Given the description of an element on the screen output the (x, y) to click on. 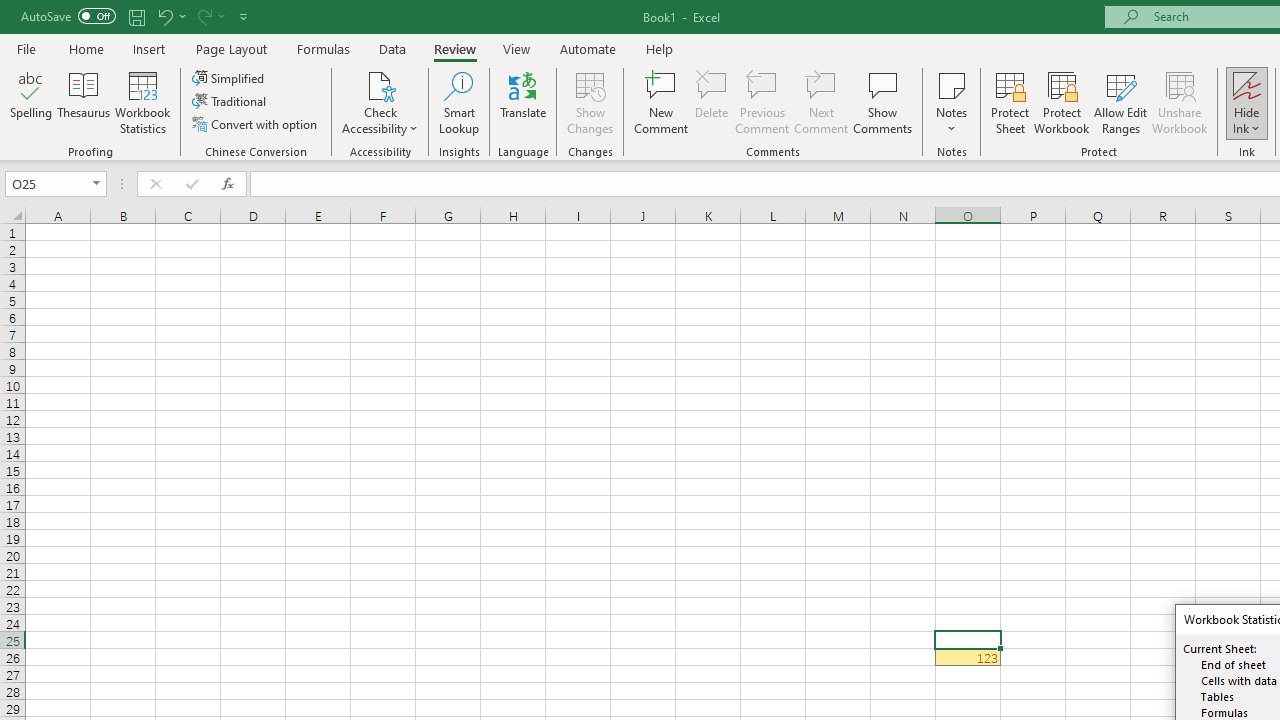
Data (392, 48)
Name Box (46, 183)
Protect Workbook... (1061, 102)
Automate (588, 48)
File Tab (26, 48)
Delete (712, 102)
Save (136, 15)
Protect Sheet... (1010, 102)
Translate (523, 102)
Unshare Workbook (1179, 102)
Help (660, 48)
Simplified (230, 78)
Thesaurus... (83, 102)
Hide Ink (1247, 102)
Show Comments (883, 102)
